Given the description of an element on the screen output the (x, y) to click on. 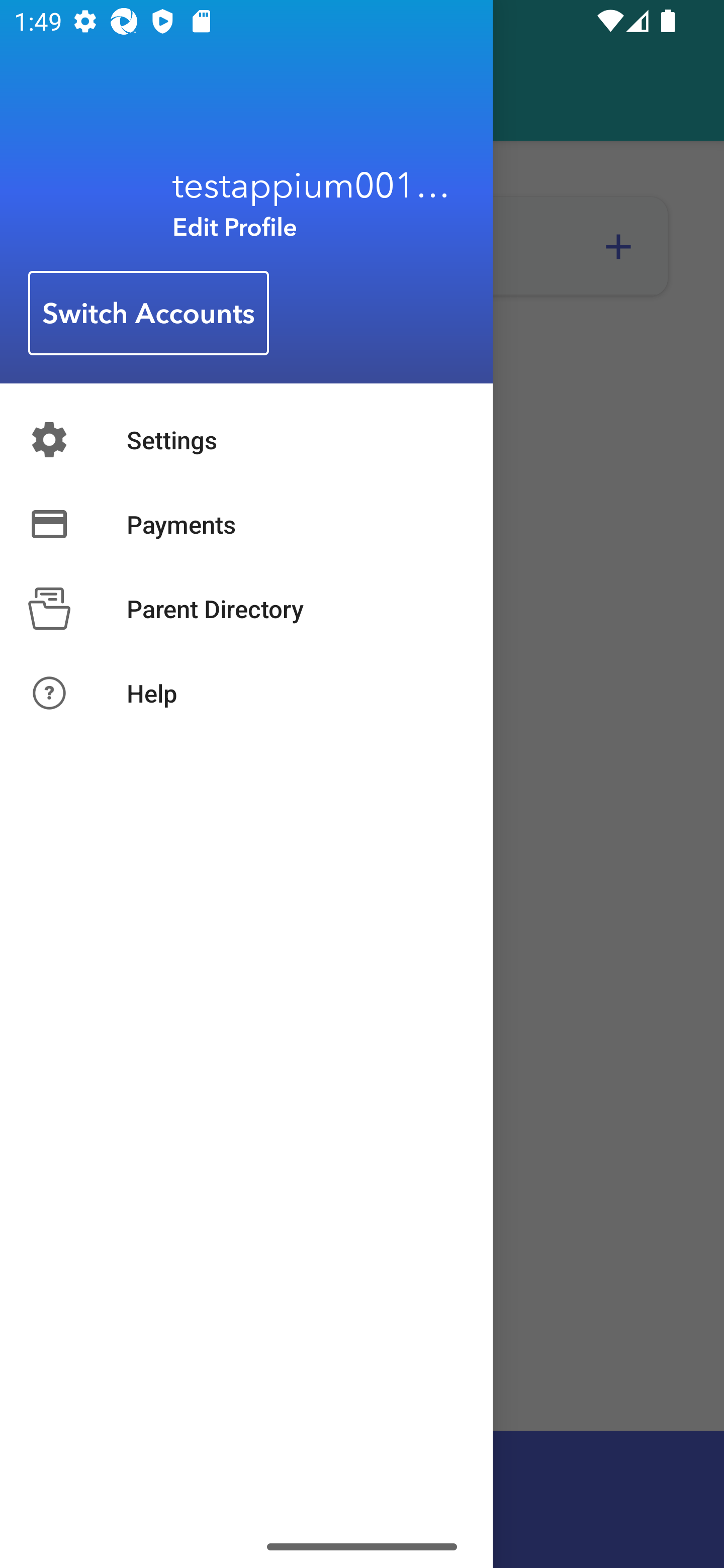
Switch Accounts (148, 313)
Settings (246, 439)
Payments (246, 523)
Parent Directory (246, 608)
Help (246, 692)
